Given the description of an element on the screen output the (x, y) to click on. 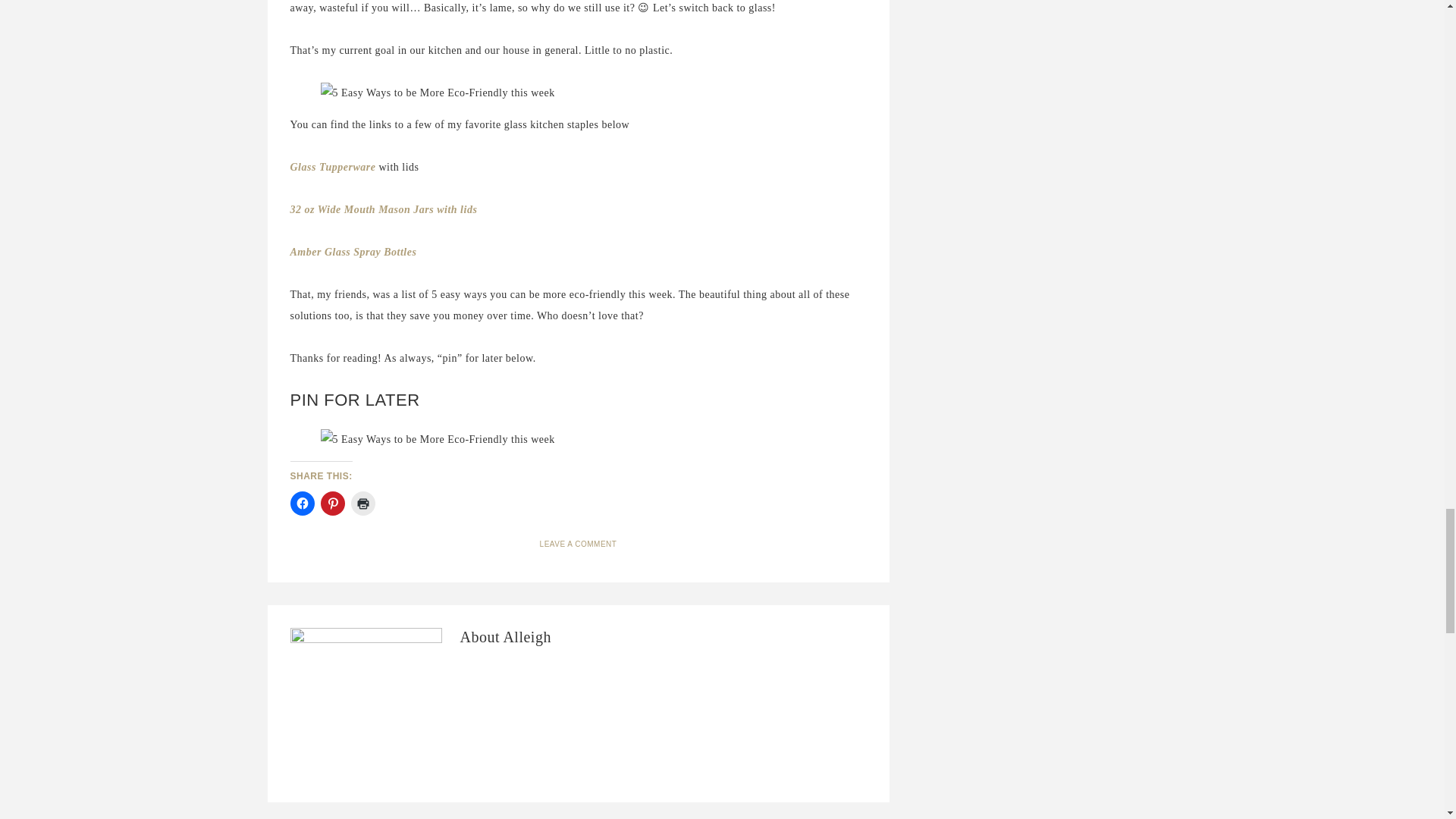
LEAVE A COMMENT (578, 543)
32 oz Wide Mouth Mason Jars with lids (383, 209)
Amber Glass Spray Bottles (352, 251)
Click to share on Pinterest (331, 503)
Click to print (362, 503)
Glass Tupperware (332, 166)
Click to share on Facebook (301, 503)
